Given the description of an element on the screen output the (x, y) to click on. 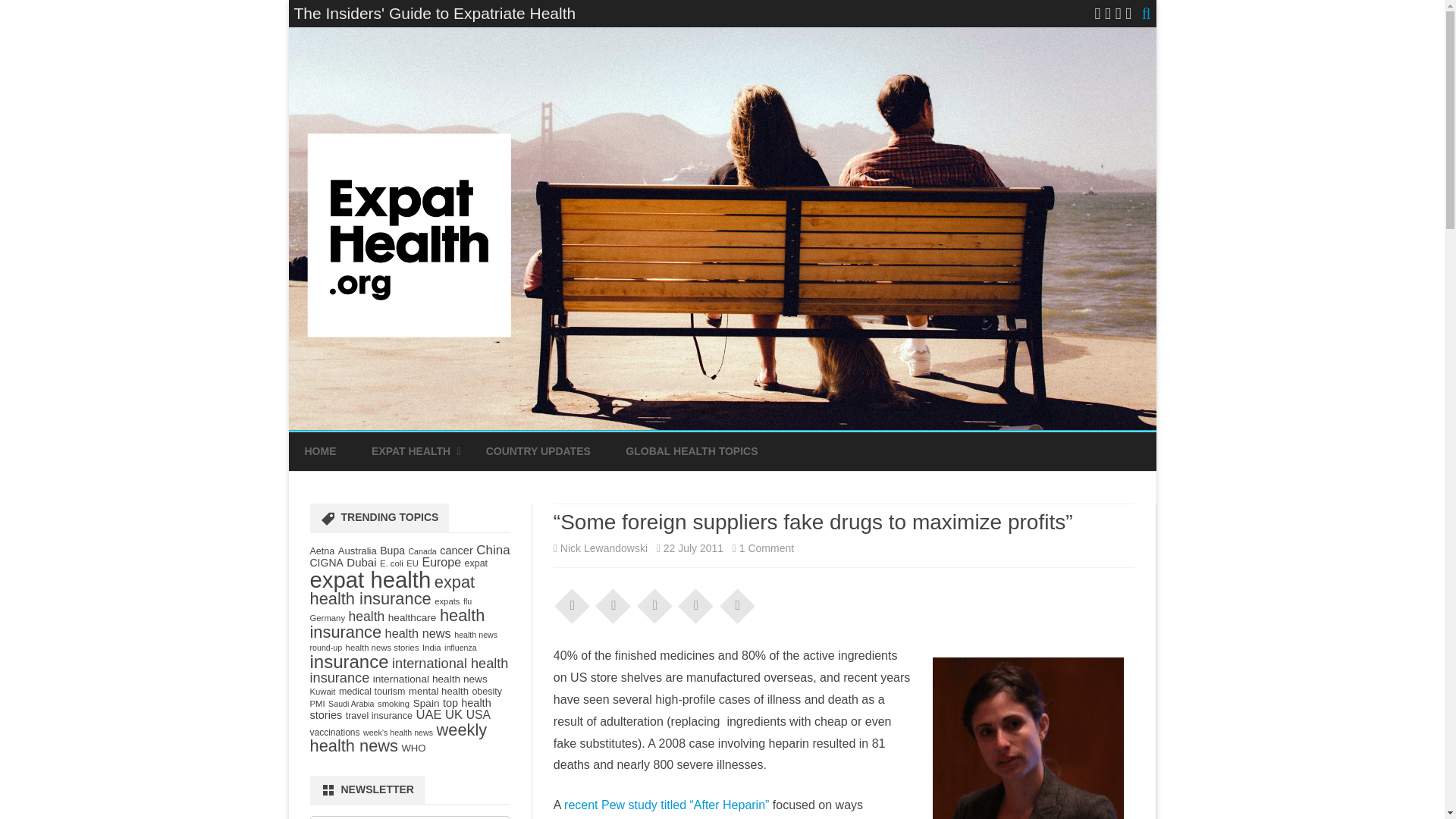
Share it on Email (696, 604)
Nick Lewandowski (603, 548)
Share on Twitter (613, 604)
Print (737, 604)
COUNTRY UPDATES (538, 451)
HEALTHCARE (446, 486)
Share on LinkedIn (654, 604)
Share on Facebook (572, 604)
EXPAT HEALTH (410, 451)
GLOBAL HEALTH TOPICS (691, 451)
Gabrielle Cosel (1028, 738)
